Given the description of an element on the screen output the (x, y) to click on. 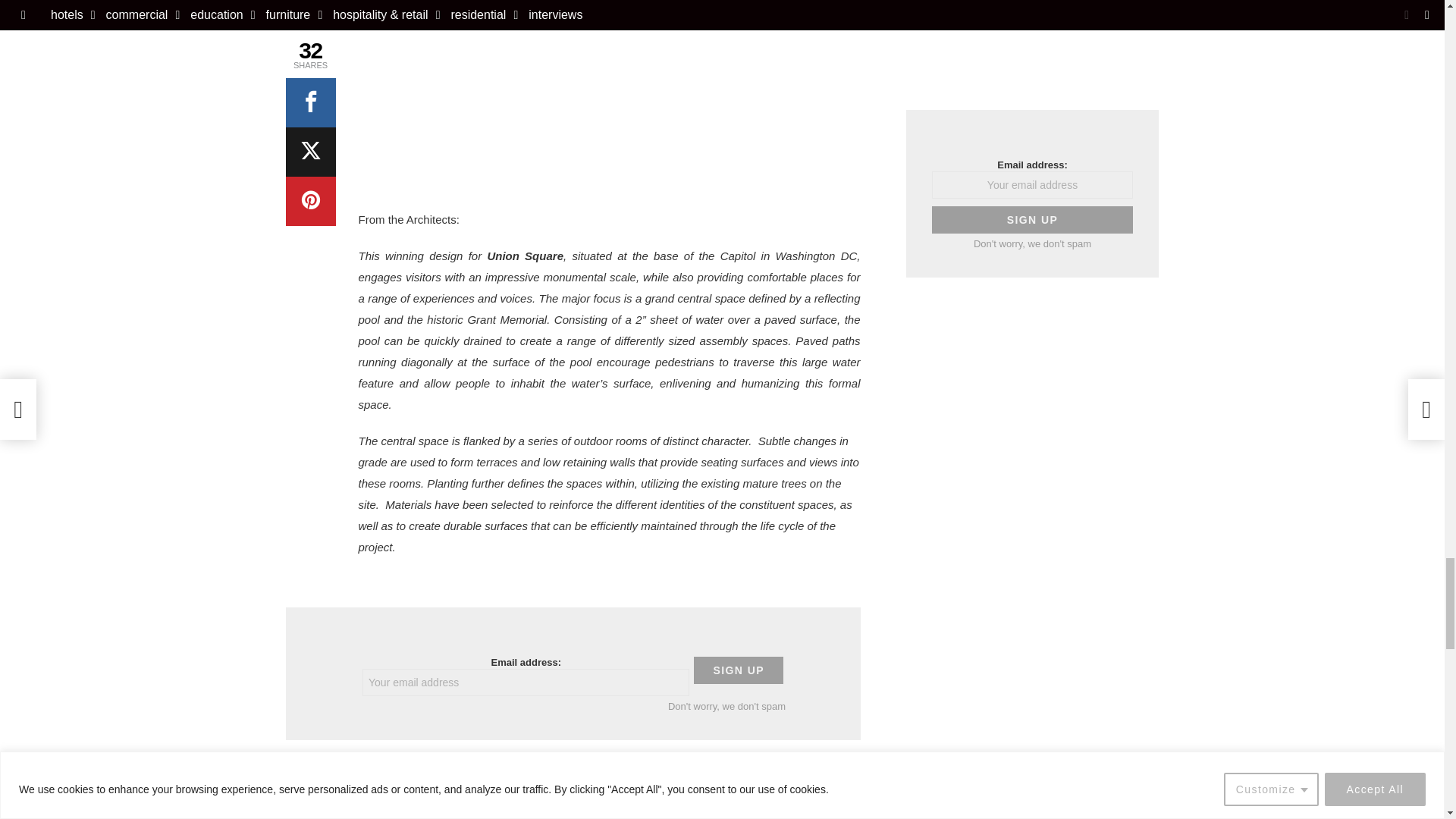
Sign up (738, 669)
